Given the description of an element on the screen output the (x, y) to click on. 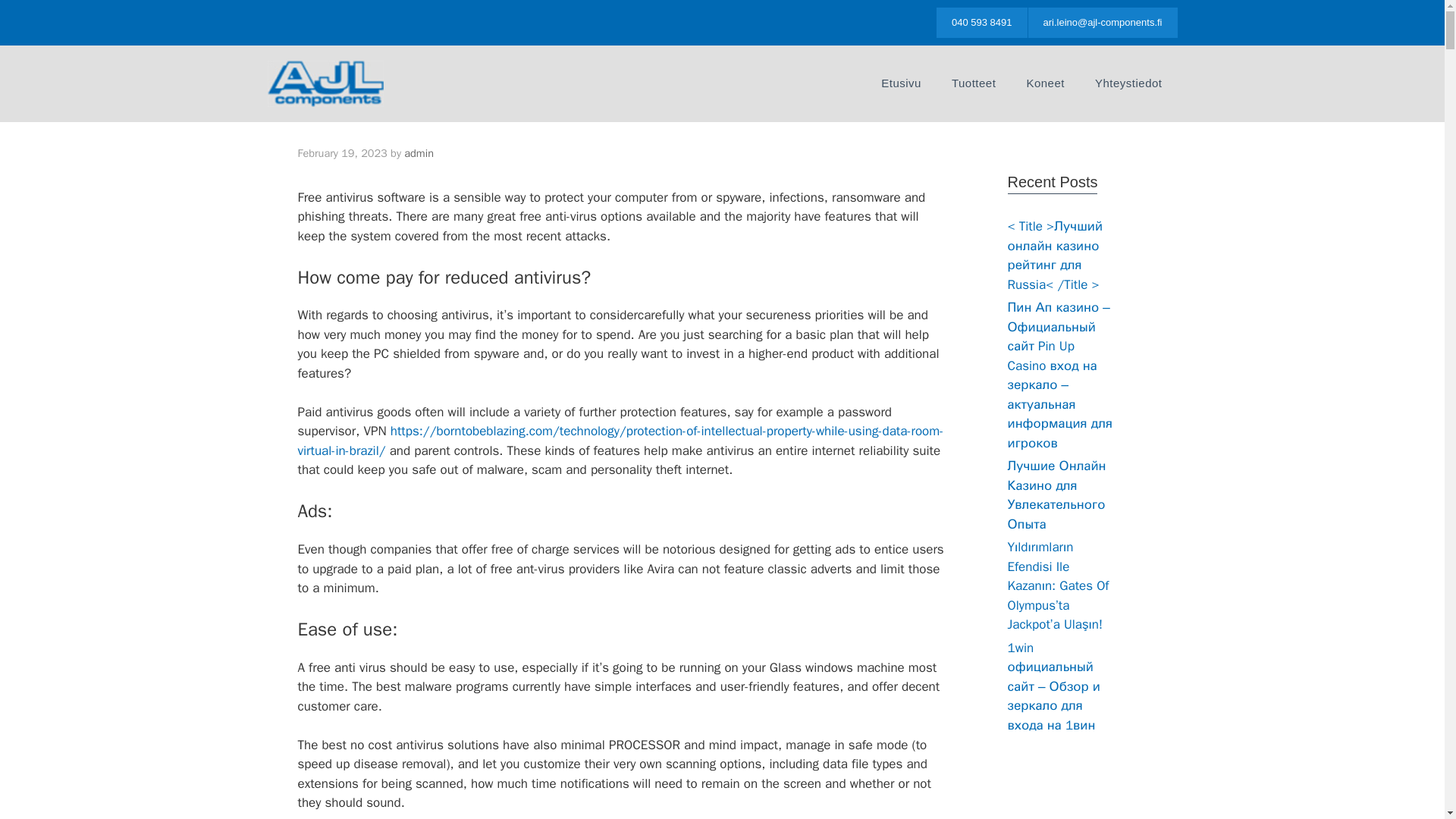
Etusivu (901, 83)
Tuotteet (973, 83)
Yhteystiedot (1128, 83)
Koneet (1045, 83)
View all posts by admin (418, 152)
040 593 8491 (981, 22)
admin (418, 152)
